Given the description of an element on the screen output the (x, y) to click on. 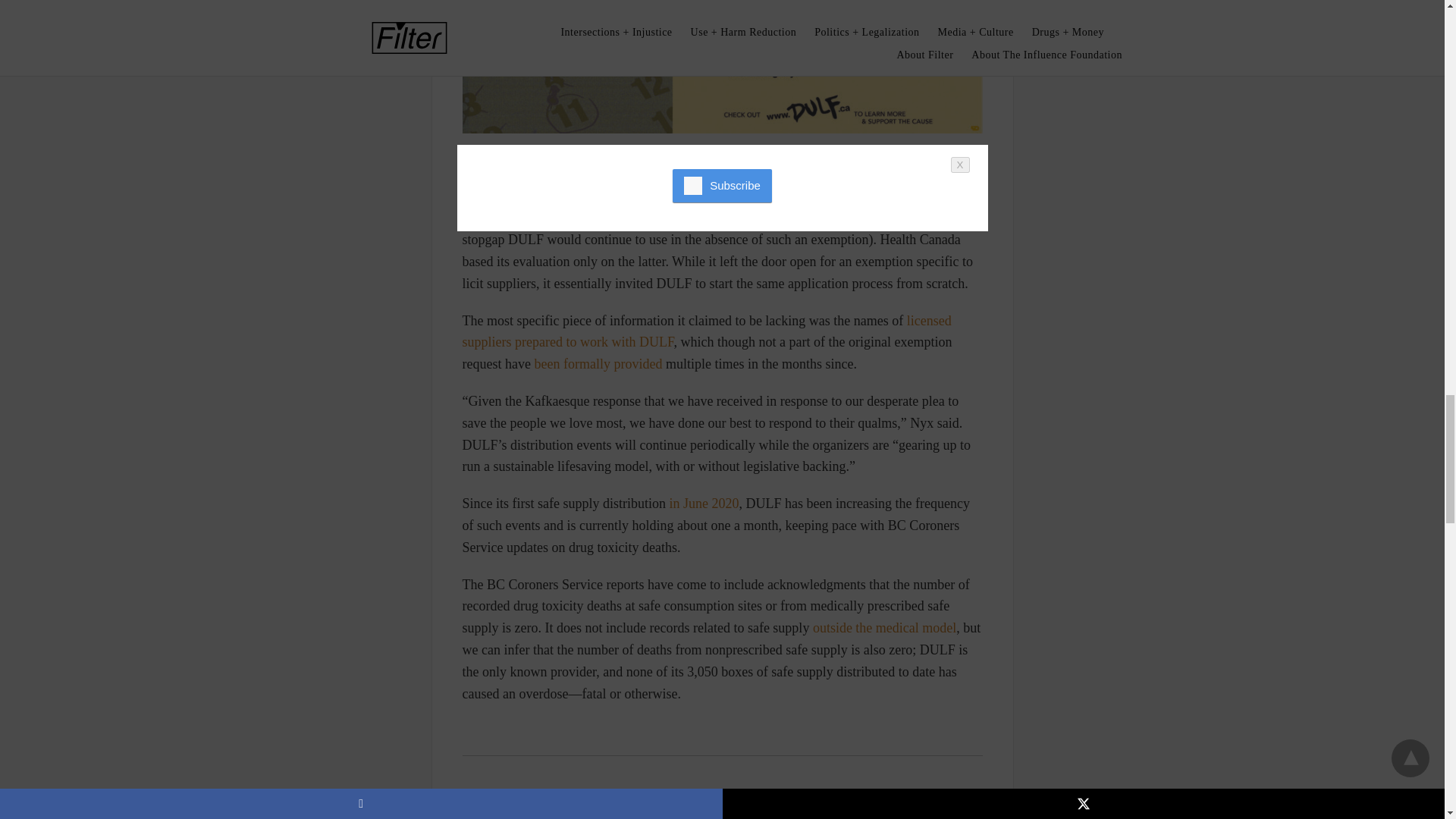
in June 2020 (703, 503)
outside the medical model (884, 627)
licensed suppliers prepared to work with DULF (707, 331)
been formally provided (598, 363)
